Given the description of an element on the screen output the (x, y) to click on. 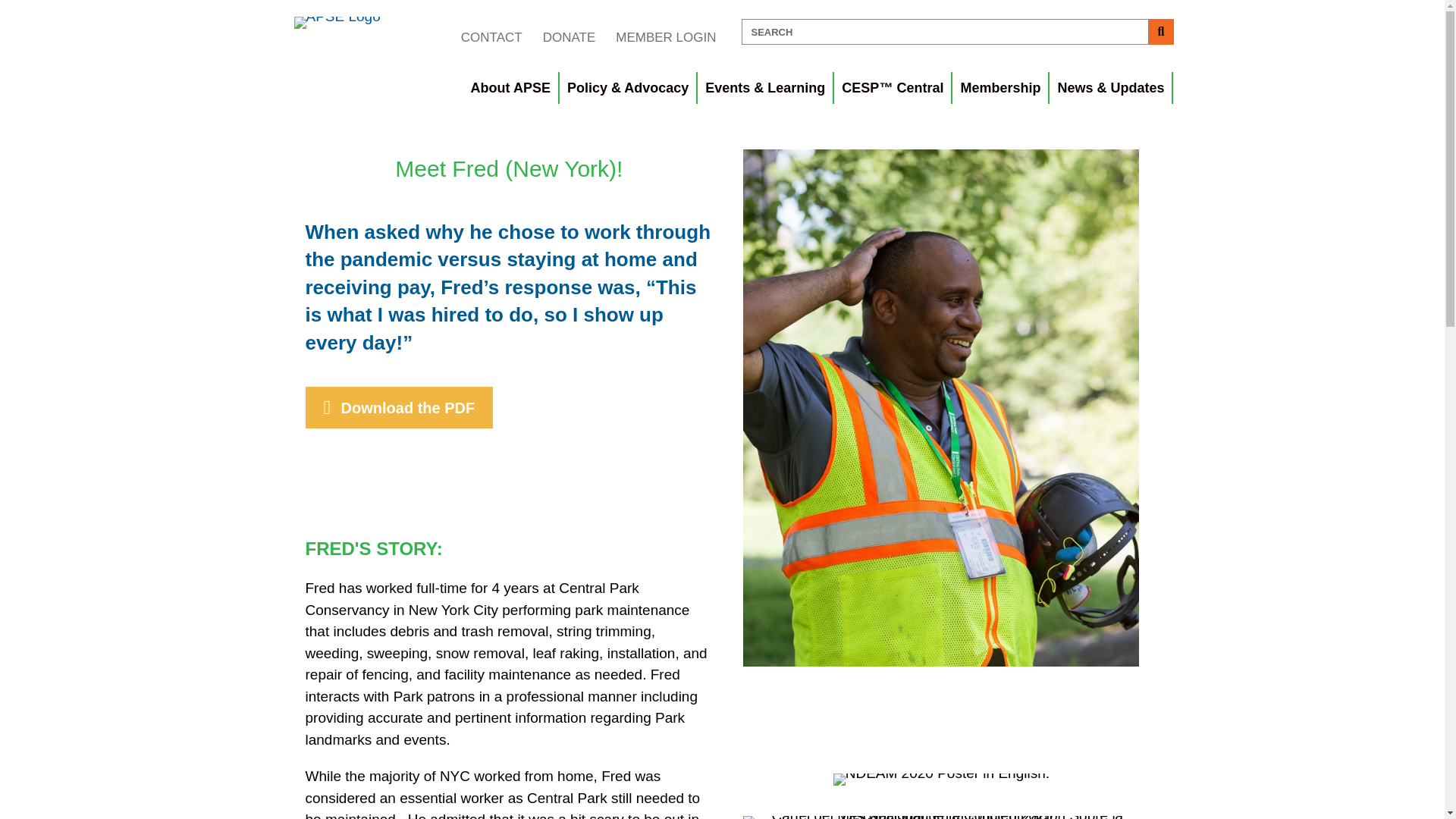
About APSE (511, 88)
SEARCH (944, 31)
CONTACT (491, 37)
2020PosterEnglishFront (940, 779)
Membership (1000, 88)
MEMBER LOGIN (665, 37)
SEARCH (944, 31)
DONATE (568, 37)
apse-logo (337, 22)
